Given the description of an element on the screen output the (x, y) to click on. 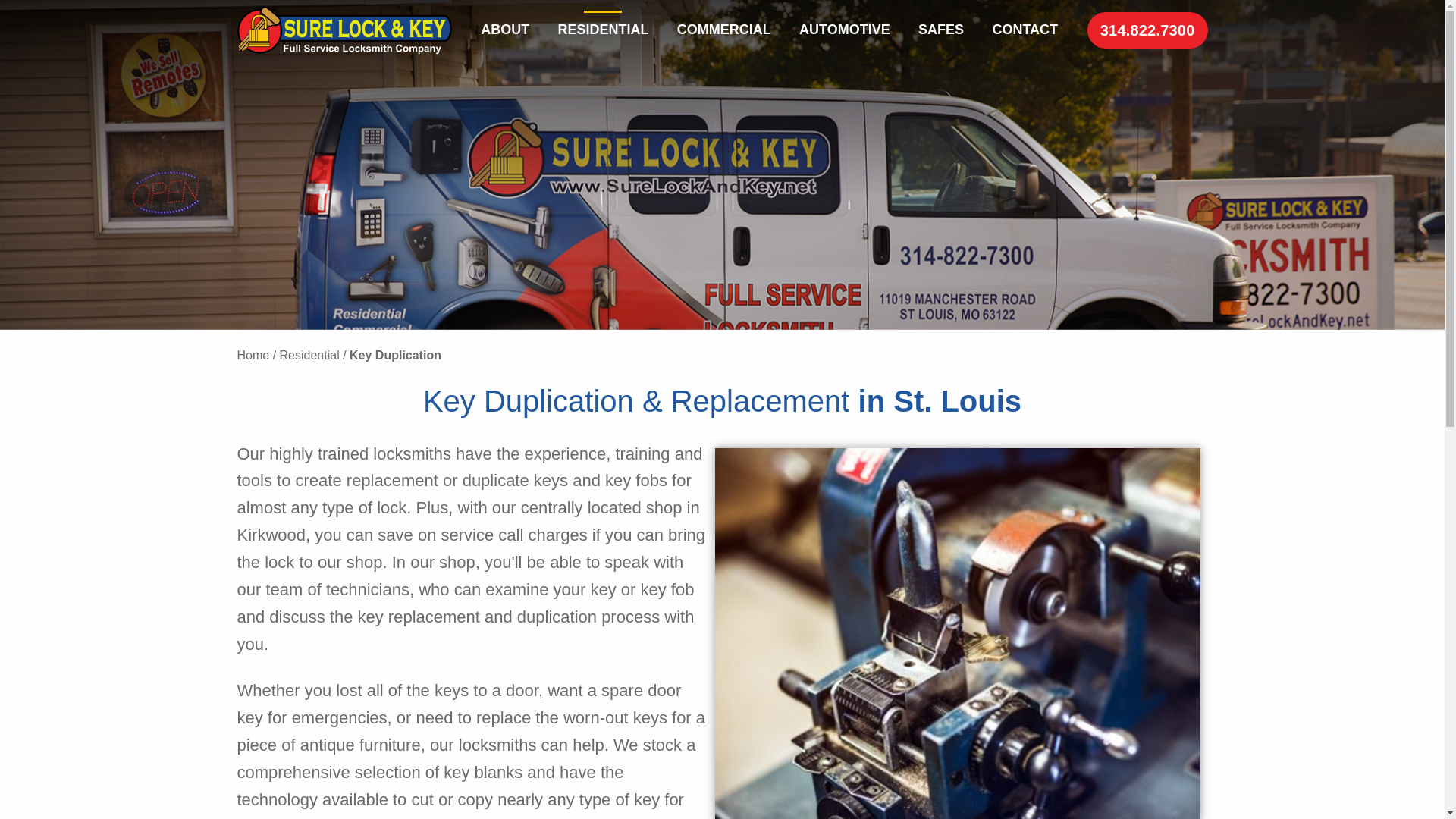
Surelock Key Home Page (343, 30)
ABOUT (505, 29)
COMMERCIAL (723, 29)
Call Us Today (1147, 30)
314.822.7300 (1147, 30)
RESIDENTIAL (602, 29)
